Given the description of an element on the screen output the (x, y) to click on. 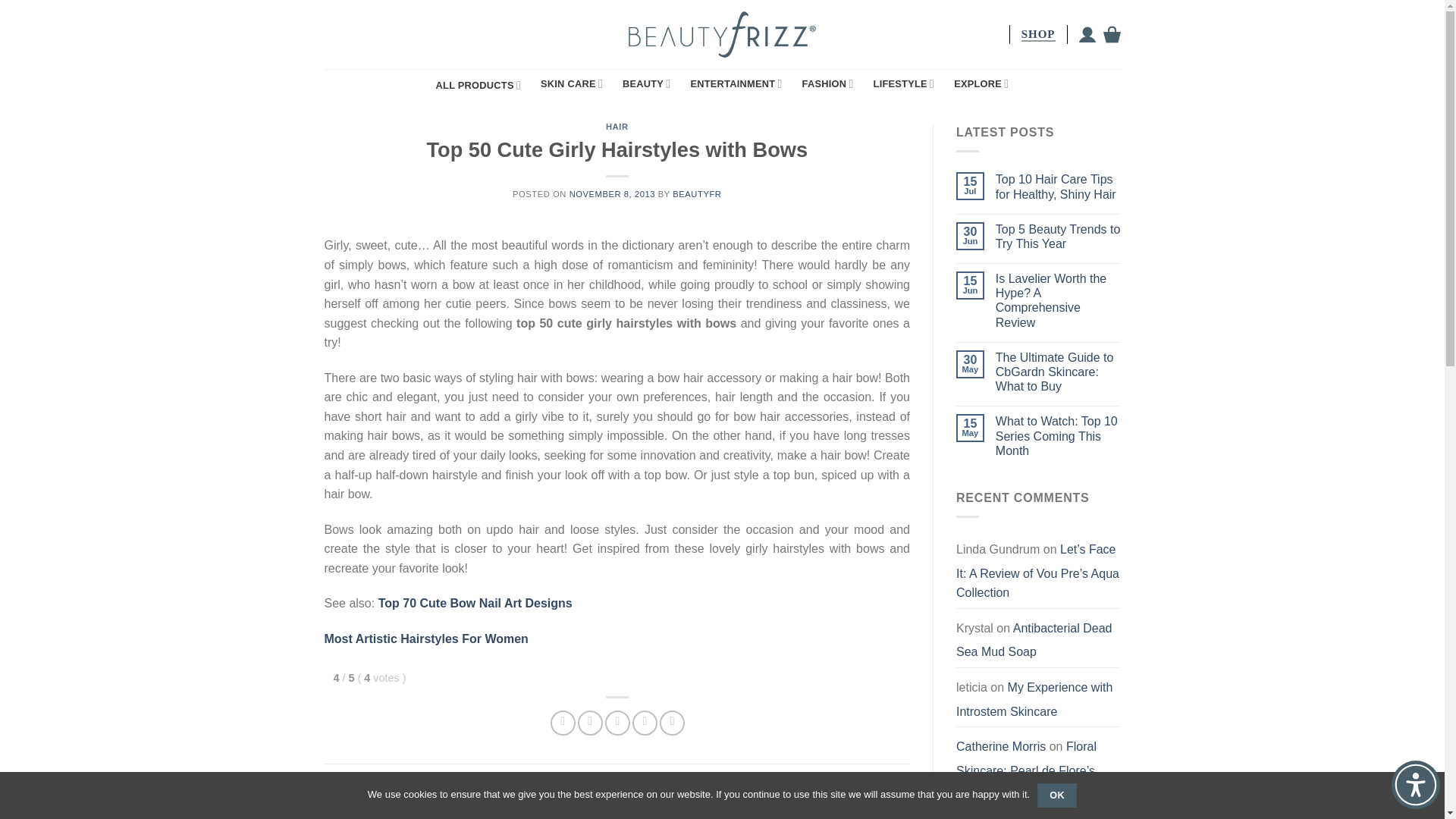
ALL PRODUCTS (478, 84)
ENTERTAINMENT (735, 83)
BEAUTY (646, 83)
Is Lavelier Worth the Hype? A Comprehensive Review (1058, 300)
SKIN CARE (571, 83)
Accessibility Menu (1415, 784)
Top 5 Beauty Trends to Try This Year (1058, 235)
The Ultimate Guide to CbGardn Skincare: What to Buy (1058, 371)
BeautyFrizz (721, 33)
What to Watch: Top 10 Series Coming This Month (1058, 435)
Top 10 Hair Care Tips for Healthy, Shiny Hair (1058, 185)
SHOP (1038, 34)
LIFESTYLE (903, 83)
No (1425, 795)
EXPLORE (981, 83)
